Given the description of an element on the screen output the (x, y) to click on. 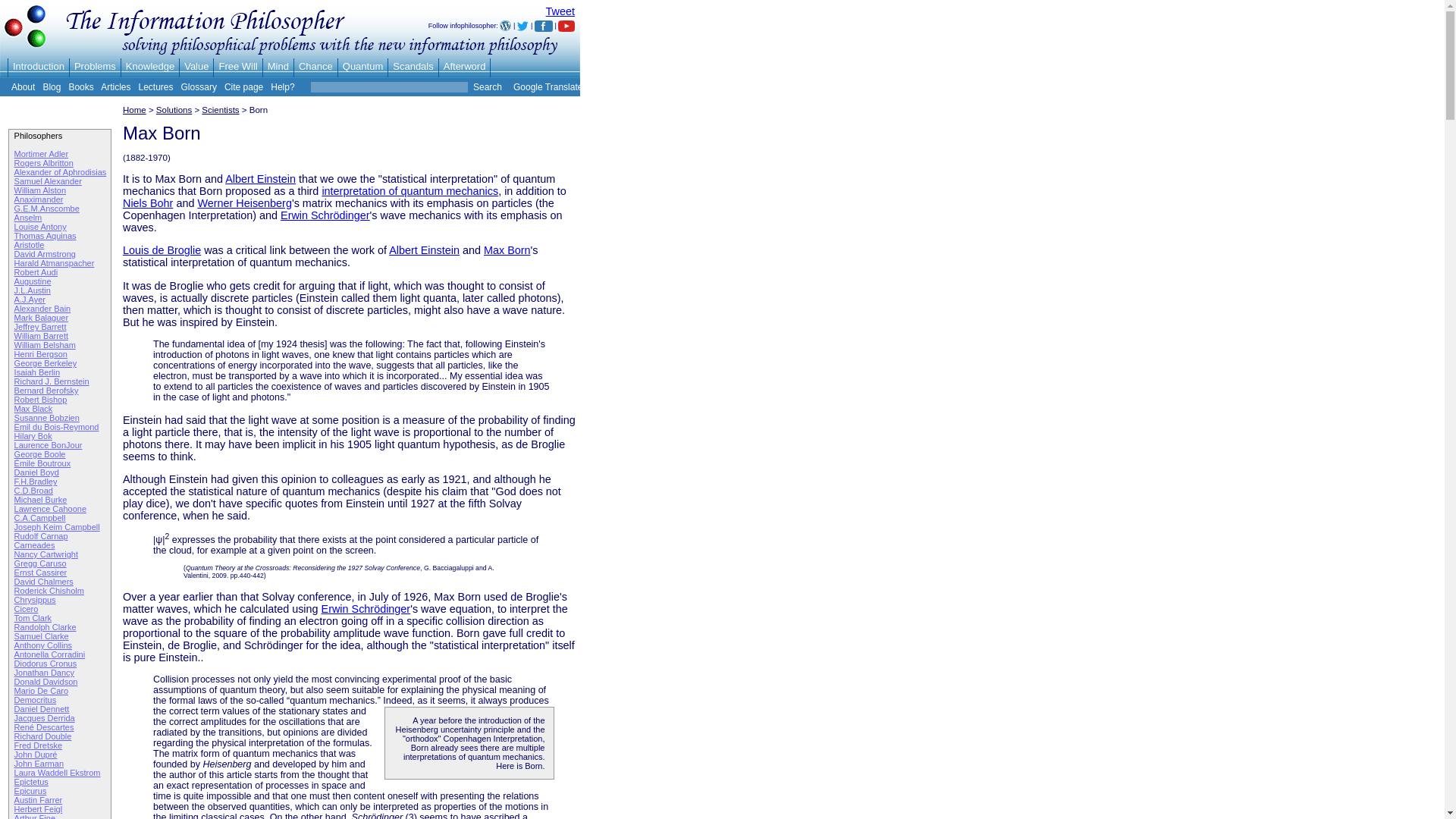
Cite page (243, 86)
Blog (51, 86)
Lectures (155, 86)
 Search (486, 86)
Scandals (412, 66)
infophilosopher on Facebook (543, 25)
Glossary of Terms (198, 86)
Glossary (198, 86)
Books (80, 86)
Afterword (465, 66)
Tweet (560, 11)
Value (196, 66)
Lectures on information philosophy (155, 86)
infophilosopher on YouTube (566, 25)
